Given the description of an element on the screen output the (x, y) to click on. 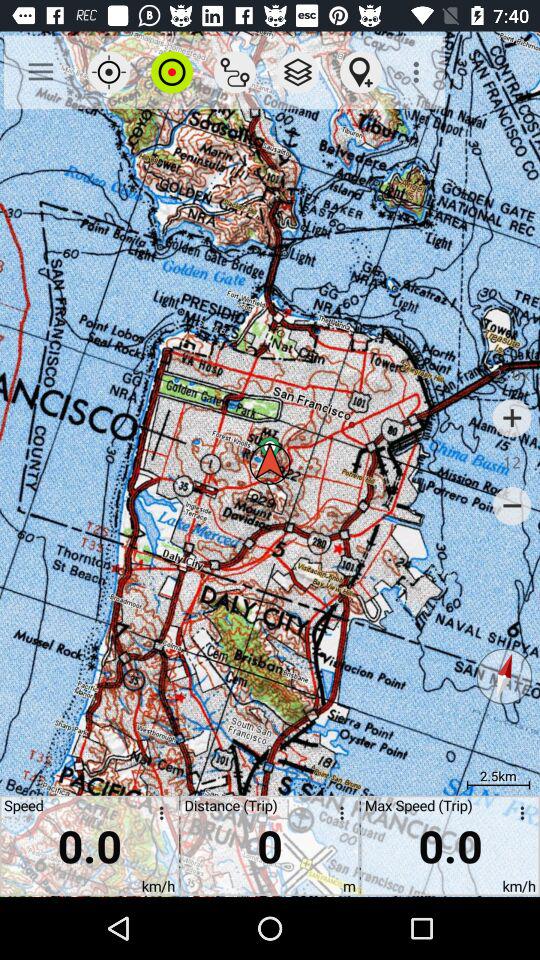
click the app above distance (trip) app (234, 71)
